Given the description of an element on the screen output the (x, y) to click on. 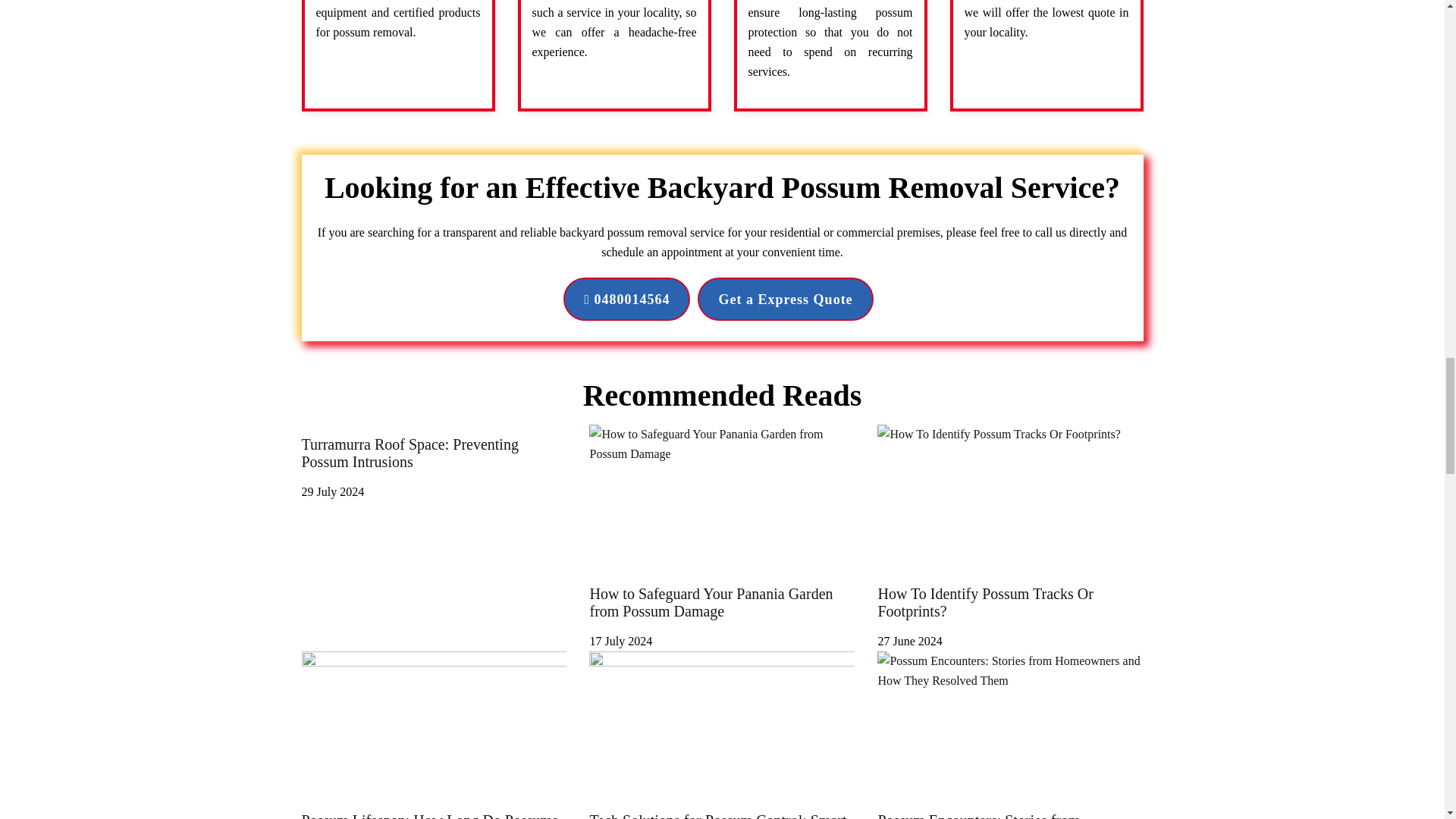
How to Safeguard Your Panania Garden from Possum Damage (721, 610)
0480014564 (626, 299)
Get a Express Quote (784, 299)
Turramurra Roof Space: Preventing Possum Intrusions (434, 461)
Possum Lifespan: How Long Do Possums Live? (434, 809)
How To Identify Possum Tracks Or Footprints? (1009, 610)
